Given the description of an element on the screen output the (x, y) to click on. 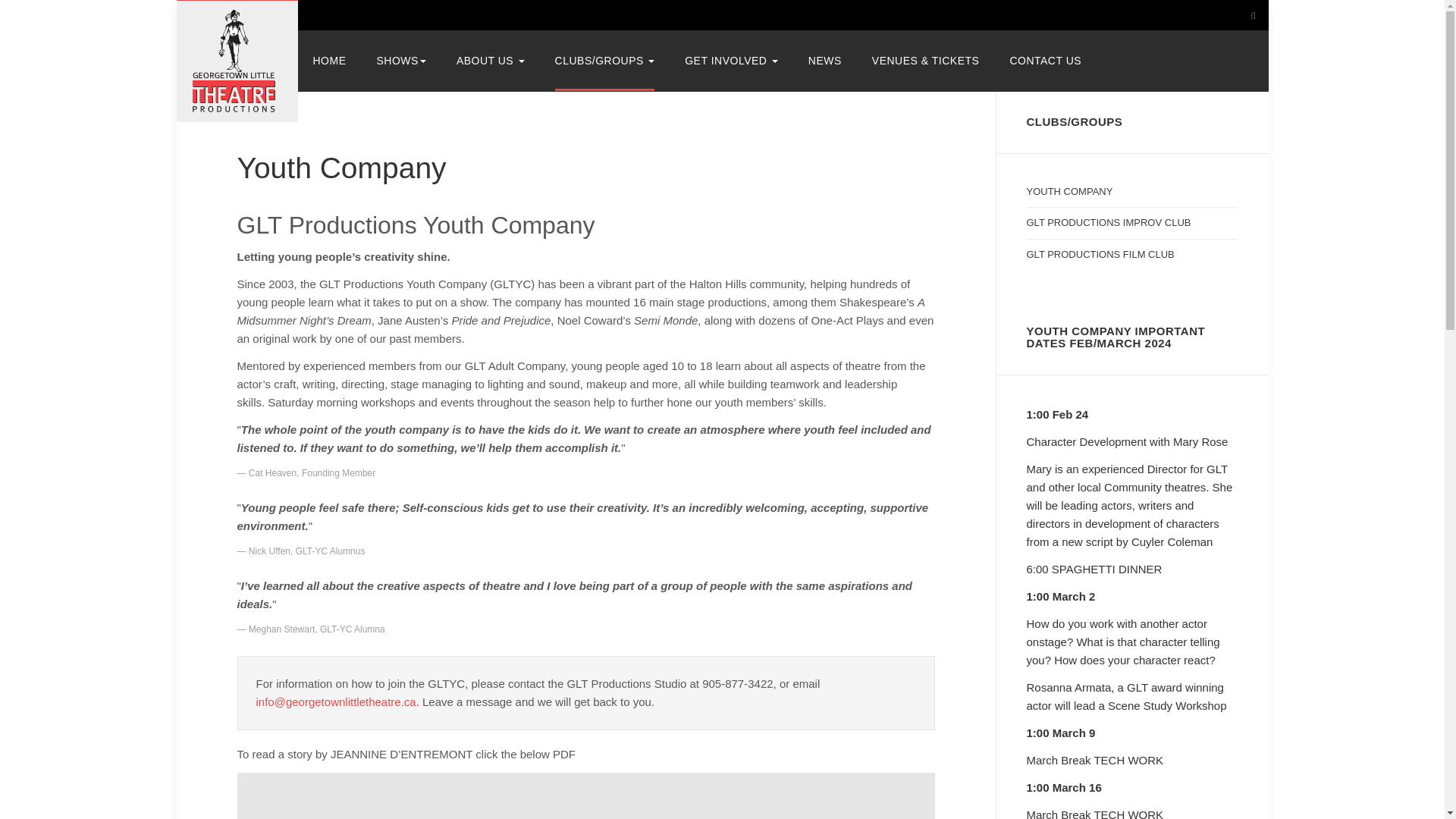
ABOUT US (490, 60)
Youth Company (340, 167)
Georgetown Little Theatre (236, 61)
